Given the description of an element on the screen output the (x, y) to click on. 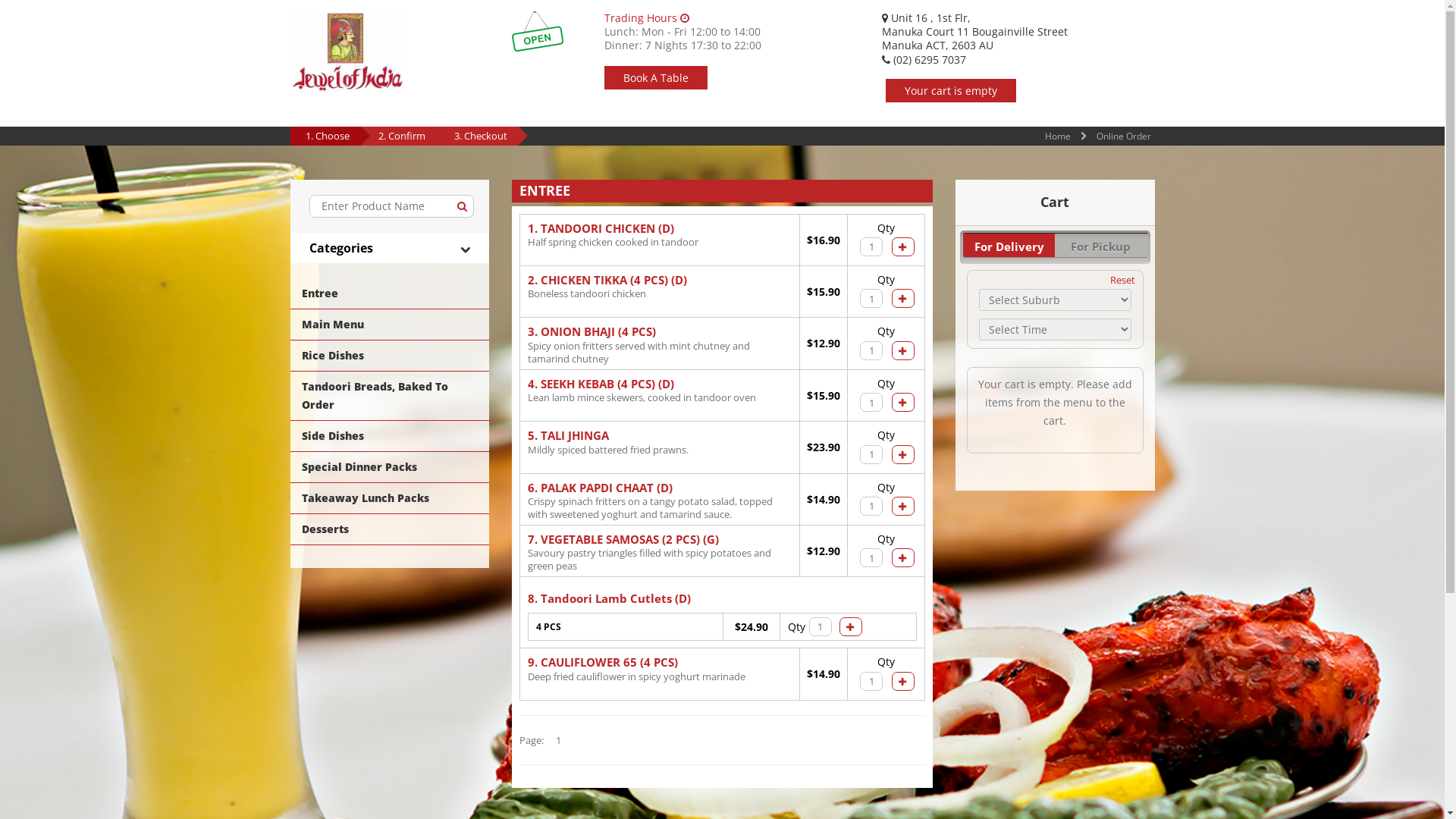
Main Menu Element type: text (389, 324)
Desserts Element type: text (389, 529)
Takeaway Lunch Packs Element type: text (389, 498)
Entree Element type: text (389, 293)
Jewel of India  Element type: hover (346, 51)
1. Choose Element type: text (326, 135)
Tandoori Breads, Baked To Order Element type: text (389, 395)
Online Order Element type: text (1123, 135)
3. Checkout Element type: text (479, 135)
Side Dishes Element type: text (389, 435)
2. Confirm Element type: text (400, 135)
Special Dinner Packs Element type: text (389, 466)
Jewel of India  - Open Element type: hover (537, 32)
Your cart is empty Element type: text (950, 90)
Rice Dishes Element type: text (389, 355)
(02) 6295 7037 Element type: text (923, 59)
Reset Element type: text (1122, 279)
For Delivery Element type: text (1008, 244)
Book A Table Element type: text (655, 77)
Home Element type: text (1057, 135)
For Pickup Element type: text (1100, 244)
